Given the description of an element on the screen output the (x, y) to click on. 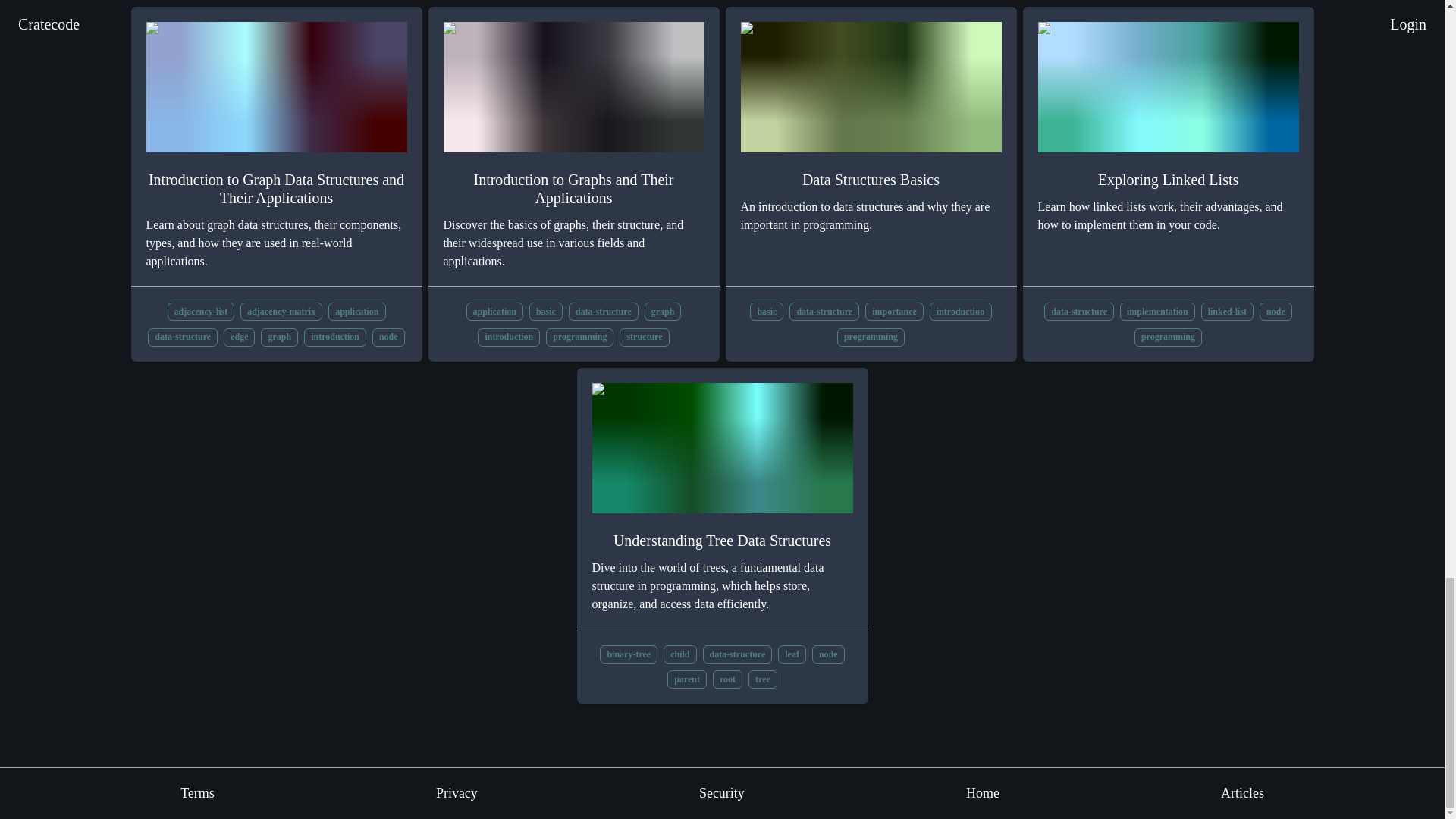
application (357, 311)
adjacency-list (200, 311)
data-structure (182, 335)
application (493, 311)
adjacency-list (200, 311)
application (493, 311)
adjacency-matrix (280, 311)
edge (239, 335)
application (357, 311)
